Given the description of an element on the screen output the (x, y) to click on. 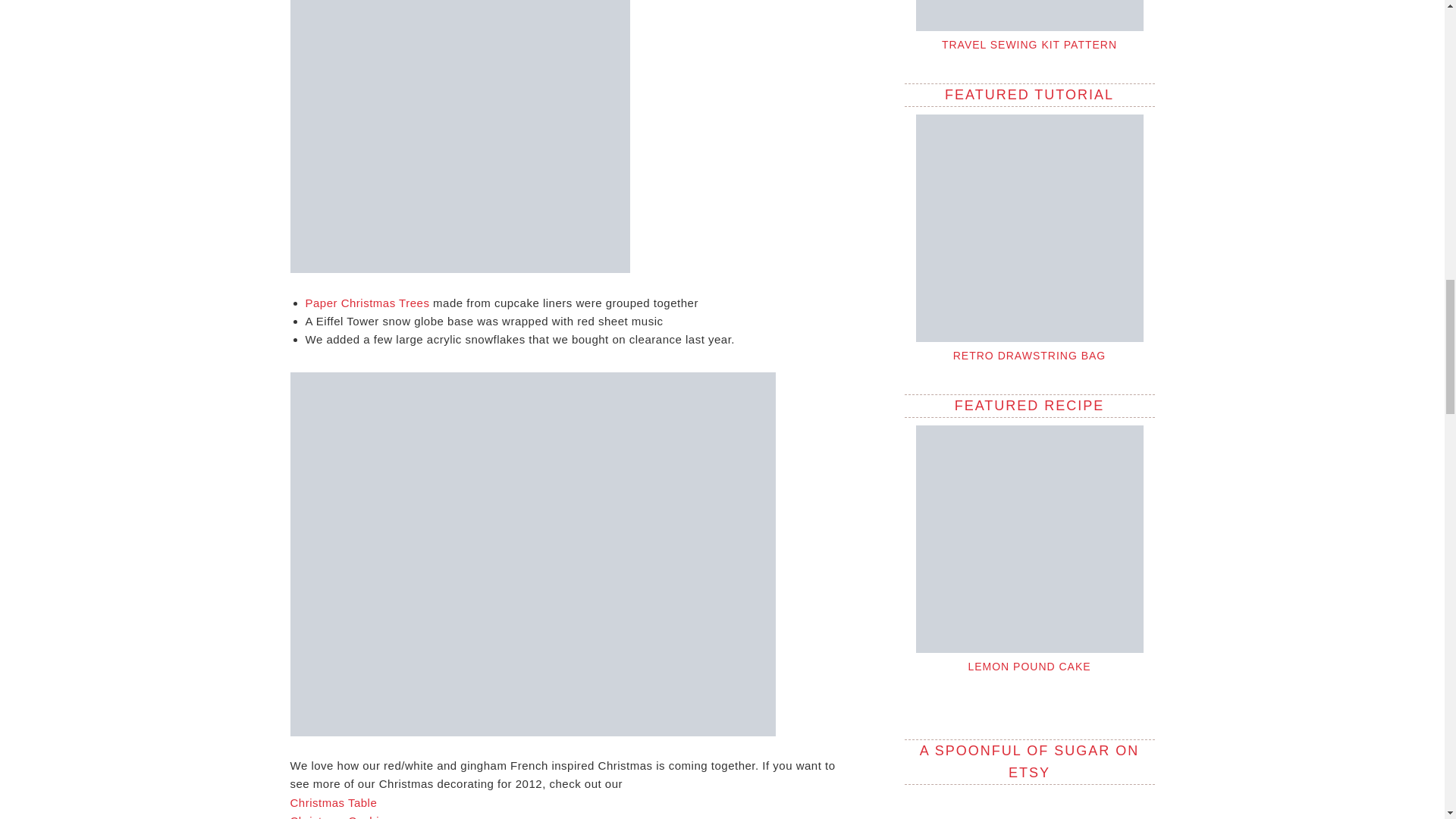
Lemon Pound Cake (1029, 538)
Travel Sewing Kit Pattern (1029, 15)
Travel Sewing Kit Pattern (1029, 44)
Retro Drawstring Bag (1029, 228)
Retro Drawstring Bag (1029, 355)
Lemon Pound Cake (1029, 666)
